Given the description of an element on the screen output the (x, y) to click on. 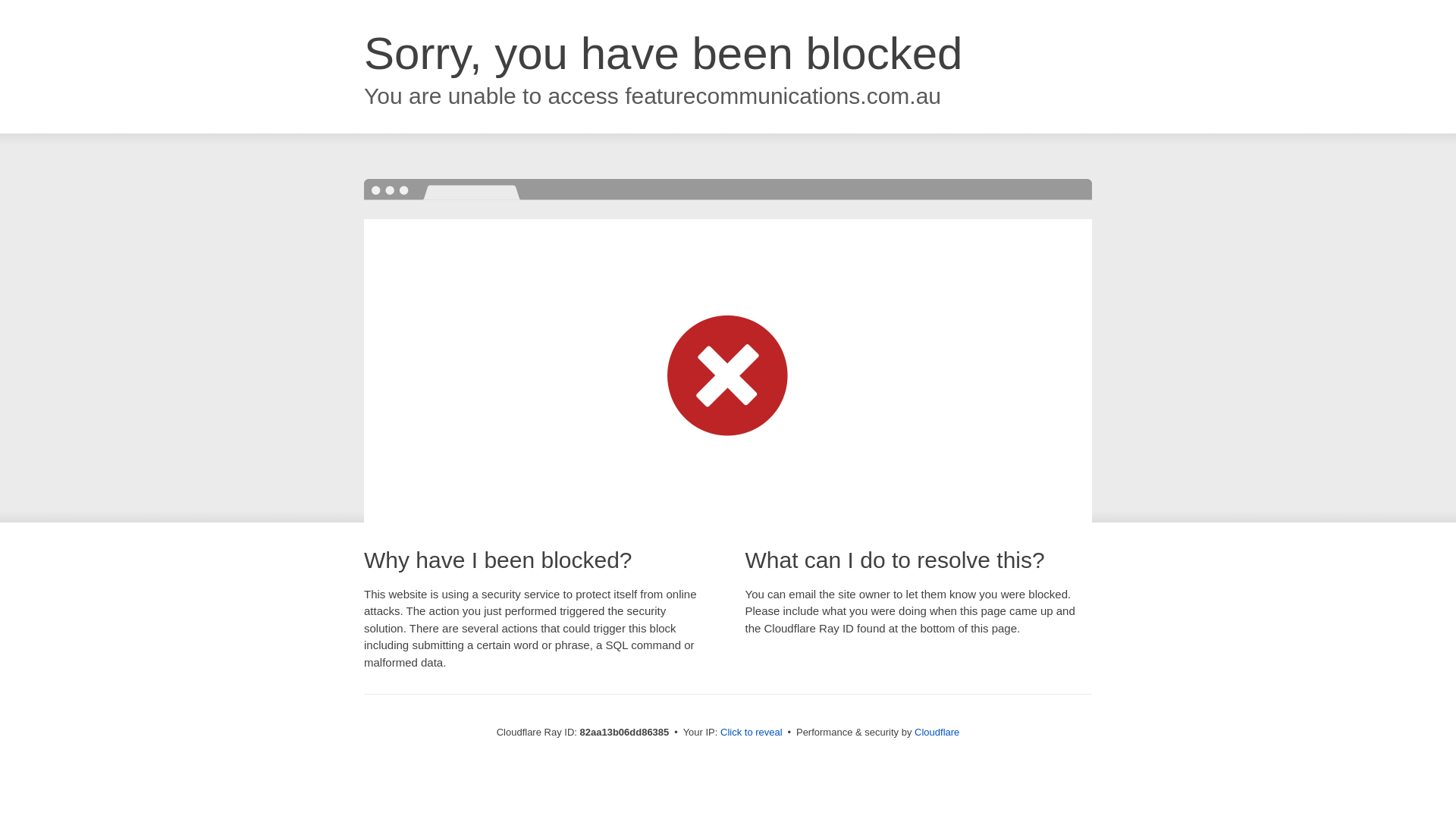
Cloudflare Element type: text (936, 731)
Click to reveal Element type: text (751, 732)
